Given the description of an element on the screen output the (x, y) to click on. 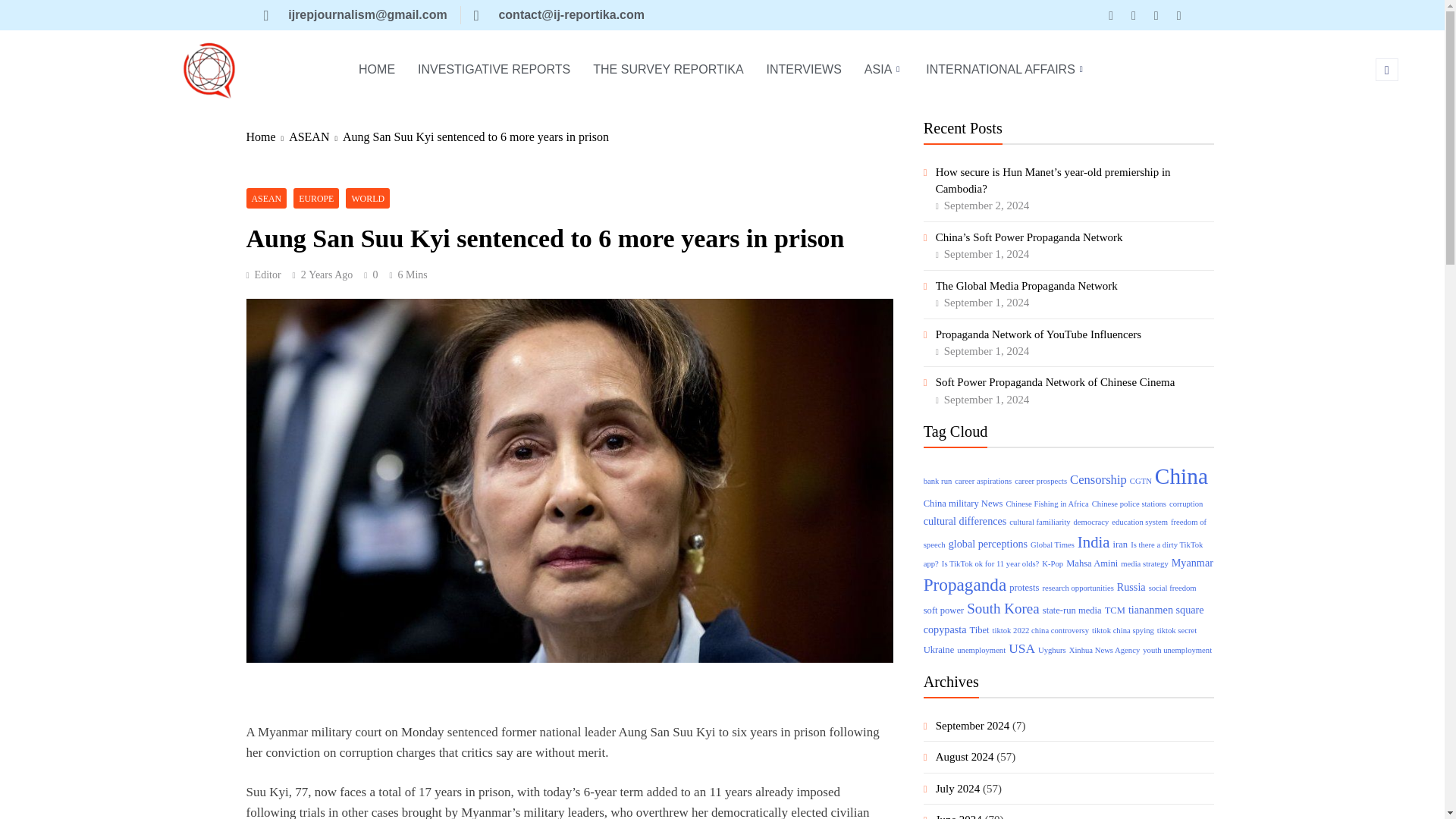
Home (267, 136)
INTERNATIONAL AFFAIRS (1005, 69)
ASEAN (266, 198)
ASEAN (315, 136)
WORLD (368, 198)
INTERVIEWS (804, 69)
ASIA (884, 69)
EUROPE (316, 198)
HOME (376, 69)
INVESTIGATIVE REPORTS (493, 69)
